Given the description of an element on the screen output the (x, y) to click on. 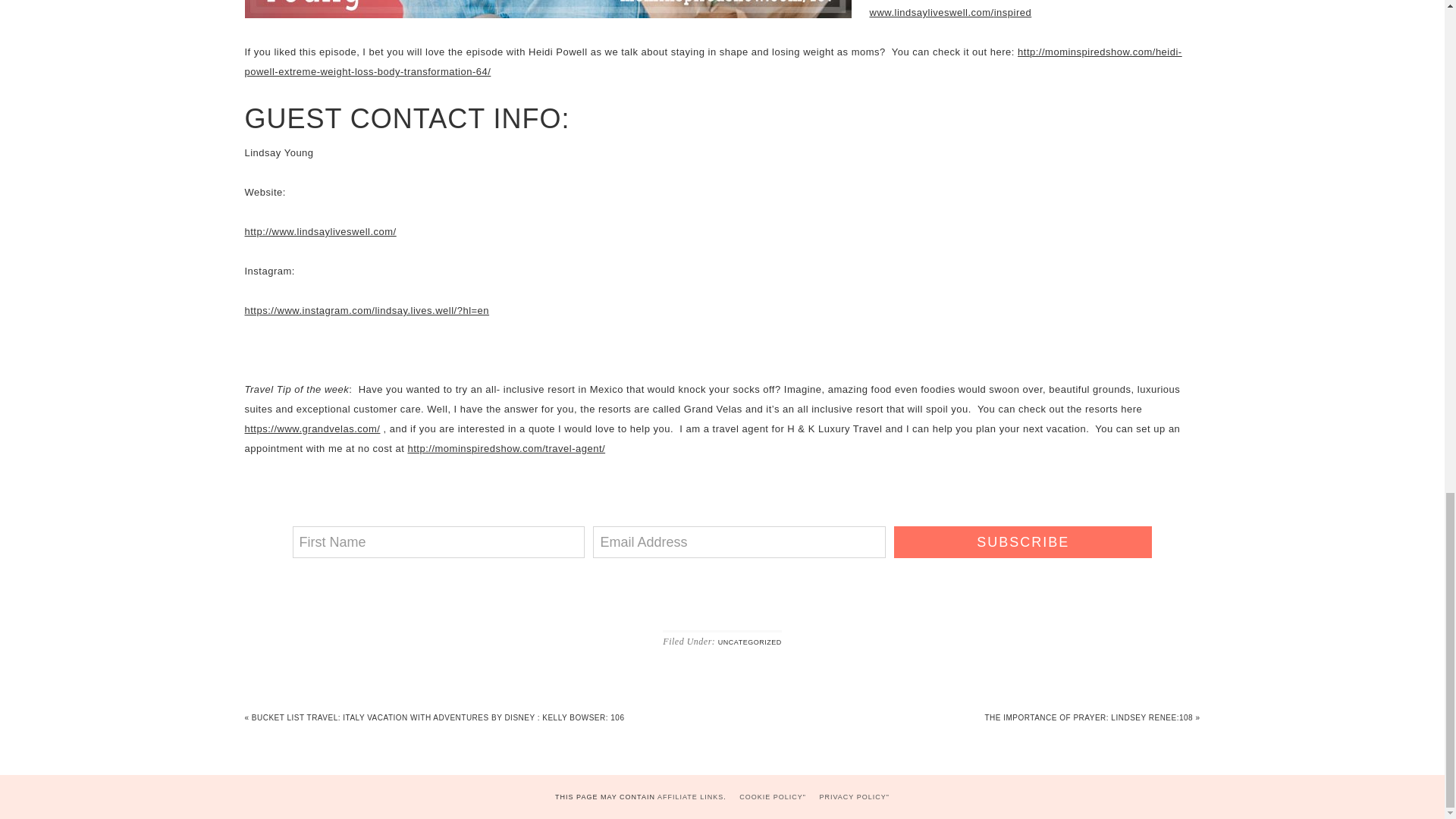
COOKIE POLICY" (772, 796)
PRIVACY POLICY" (854, 796)
UNCATEGORIZED (749, 642)
AFFILIATE LINKS (690, 796)
SUBSCRIBE (1022, 541)
